Given the description of an element on the screen output the (x, y) to click on. 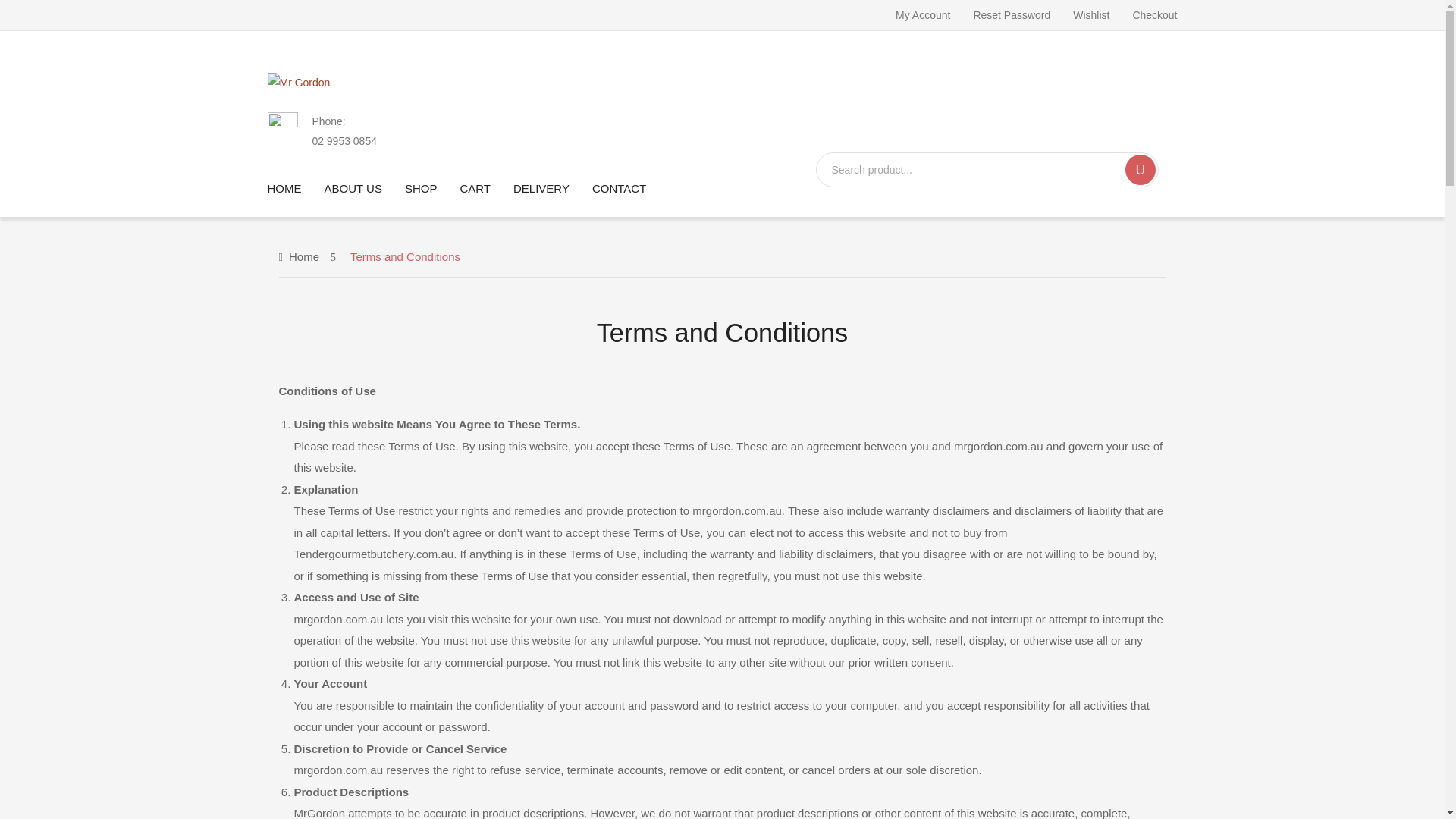
ABOUT US (352, 188)
Checkout (1154, 15)
My Account (922, 15)
Search (1140, 169)
Reset Password (1010, 15)
DELIVERY (541, 188)
Wishlist (1091, 15)
Home (299, 256)
CONTACT (619, 188)
